Given the description of an element on the screen output the (x, y) to click on. 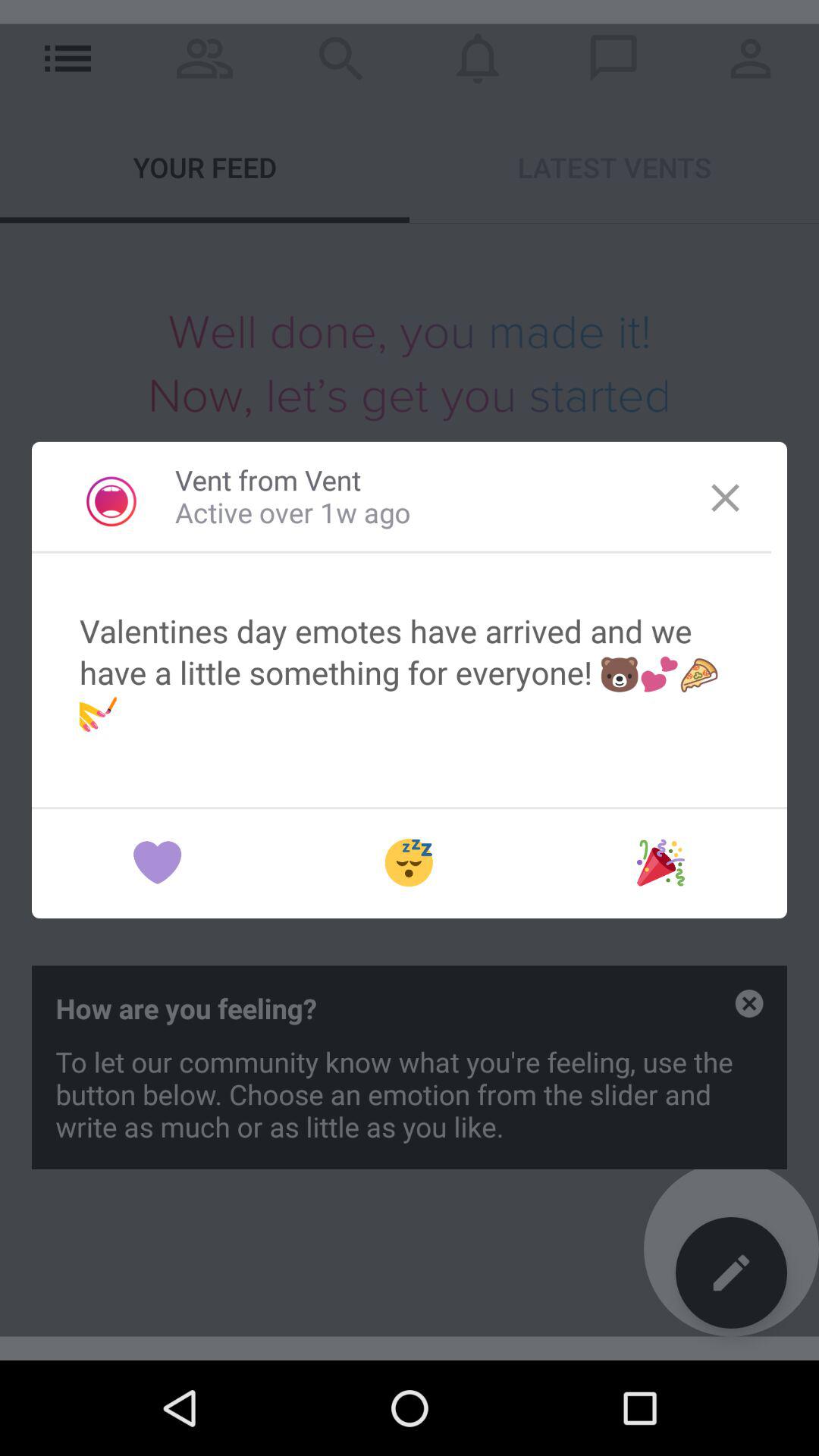
swipe to valentines day emotes item (409, 672)
